Given the description of an element on the screen output the (x, y) to click on. 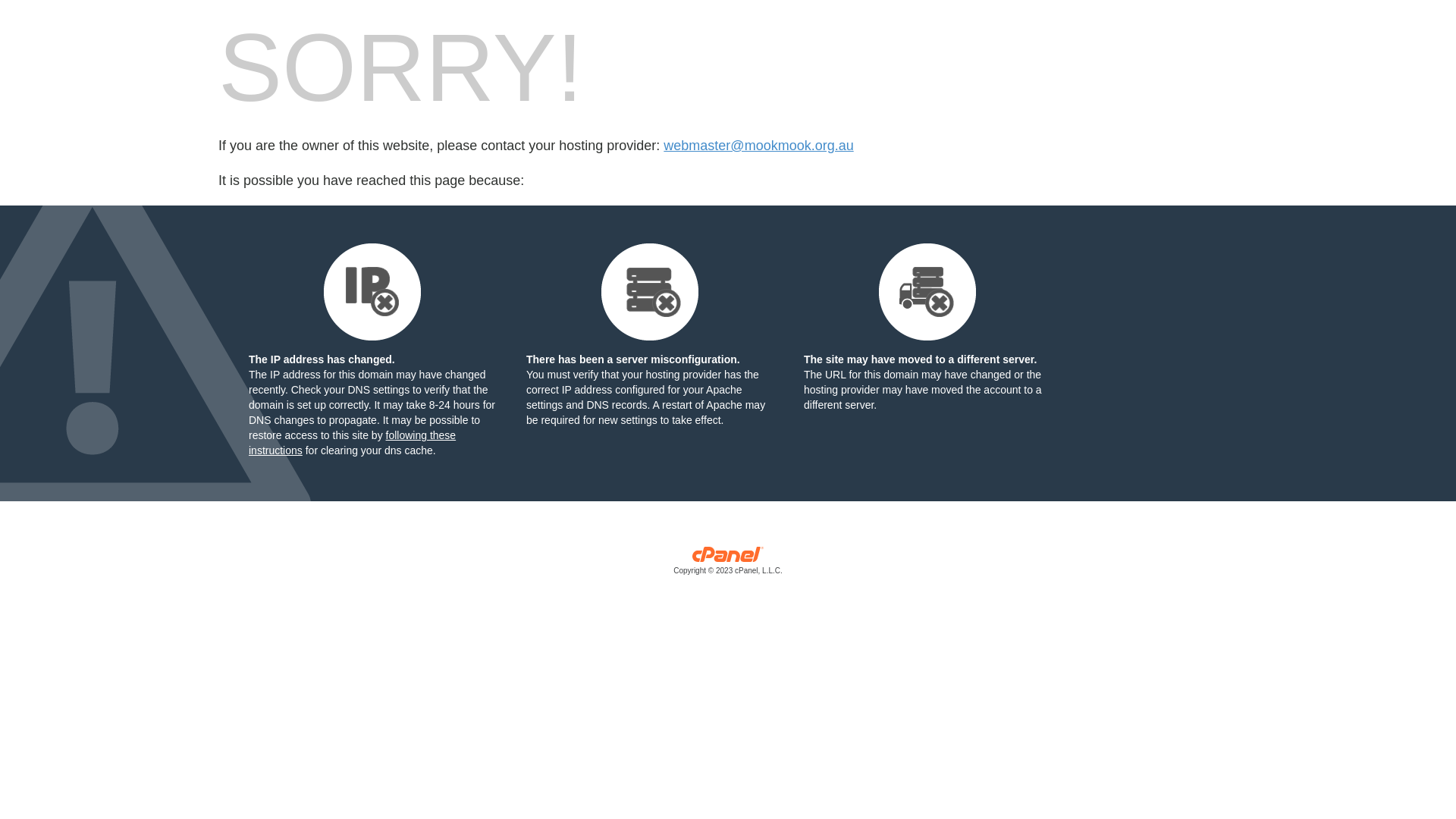
webmaster@mookmook.org.au Element type: text (758, 145)
following these instructions Element type: text (351, 442)
